Given the description of an element on the screen output the (x, y) to click on. 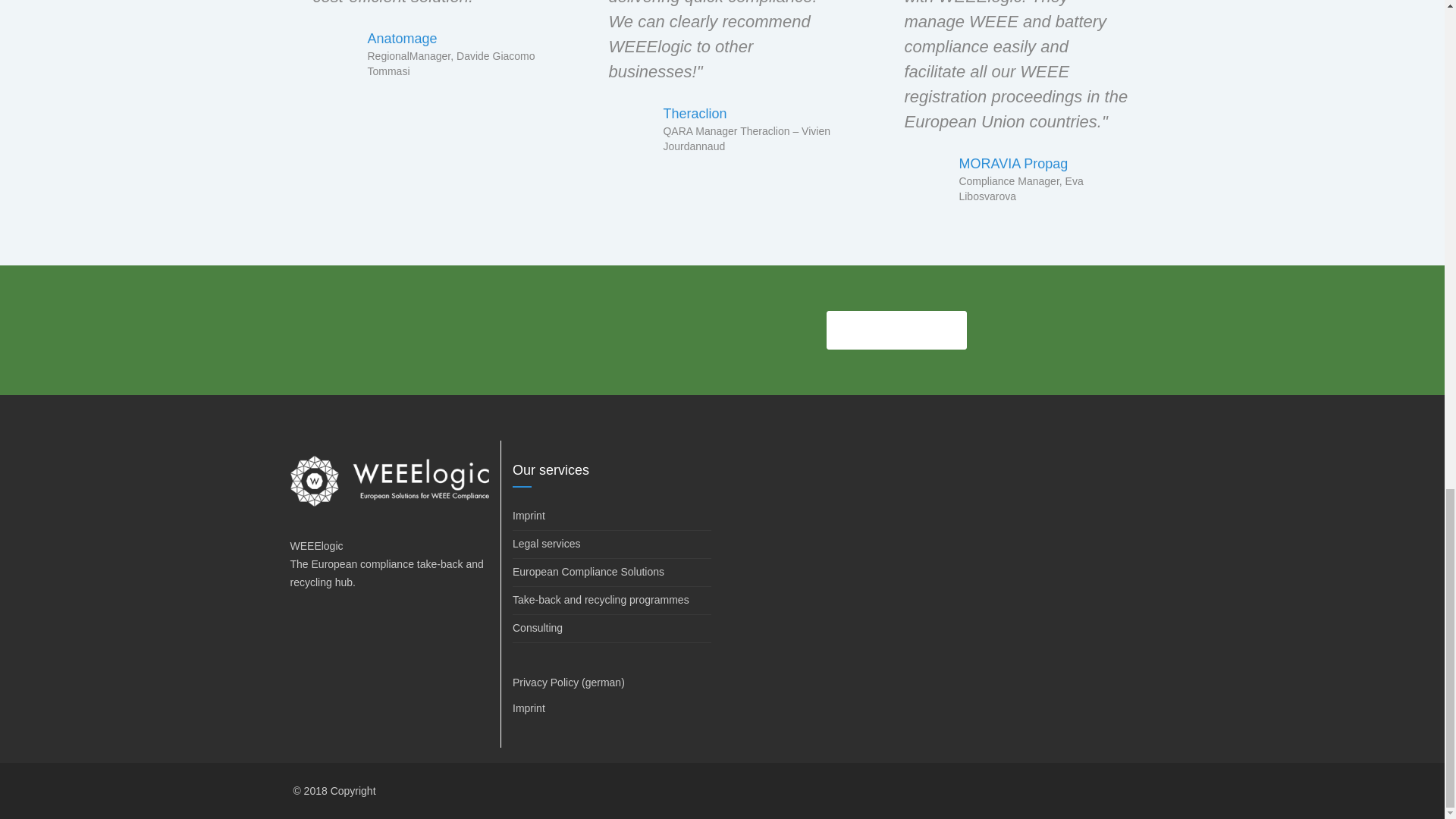
European Compliance Solutions (611, 572)
Imprint (611, 516)
Consulting (611, 628)
Legal services (611, 544)
Contact us (896, 329)
Imprint (528, 707)
Theraclion (694, 113)
MORAVIA Propag (1012, 163)
Take-back and recycling programmes (611, 601)
Anatomage (401, 38)
